Given the description of an element on the screen output the (x, y) to click on. 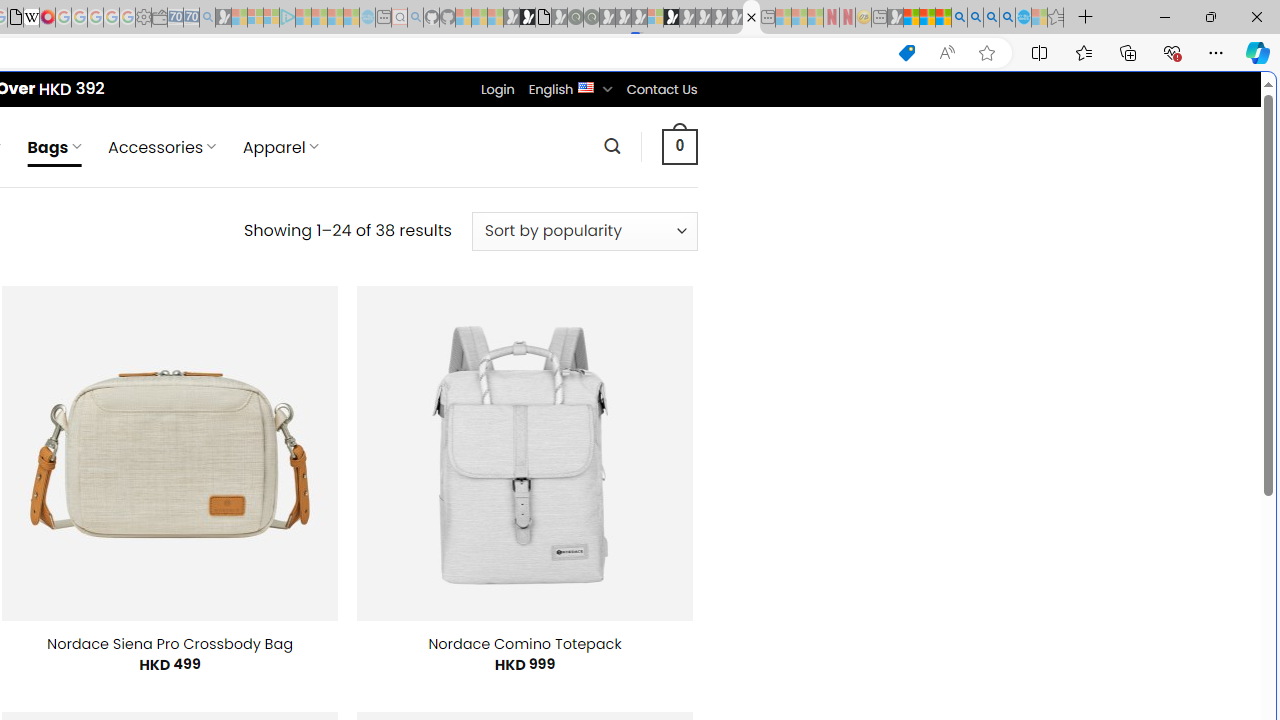
MediaWiki (47, 17)
Future Focus Report 2024 - Sleeping (591, 17)
Nordace Comino Totepack (524, 643)
